Given the description of an element on the screen output the (x, y) to click on. 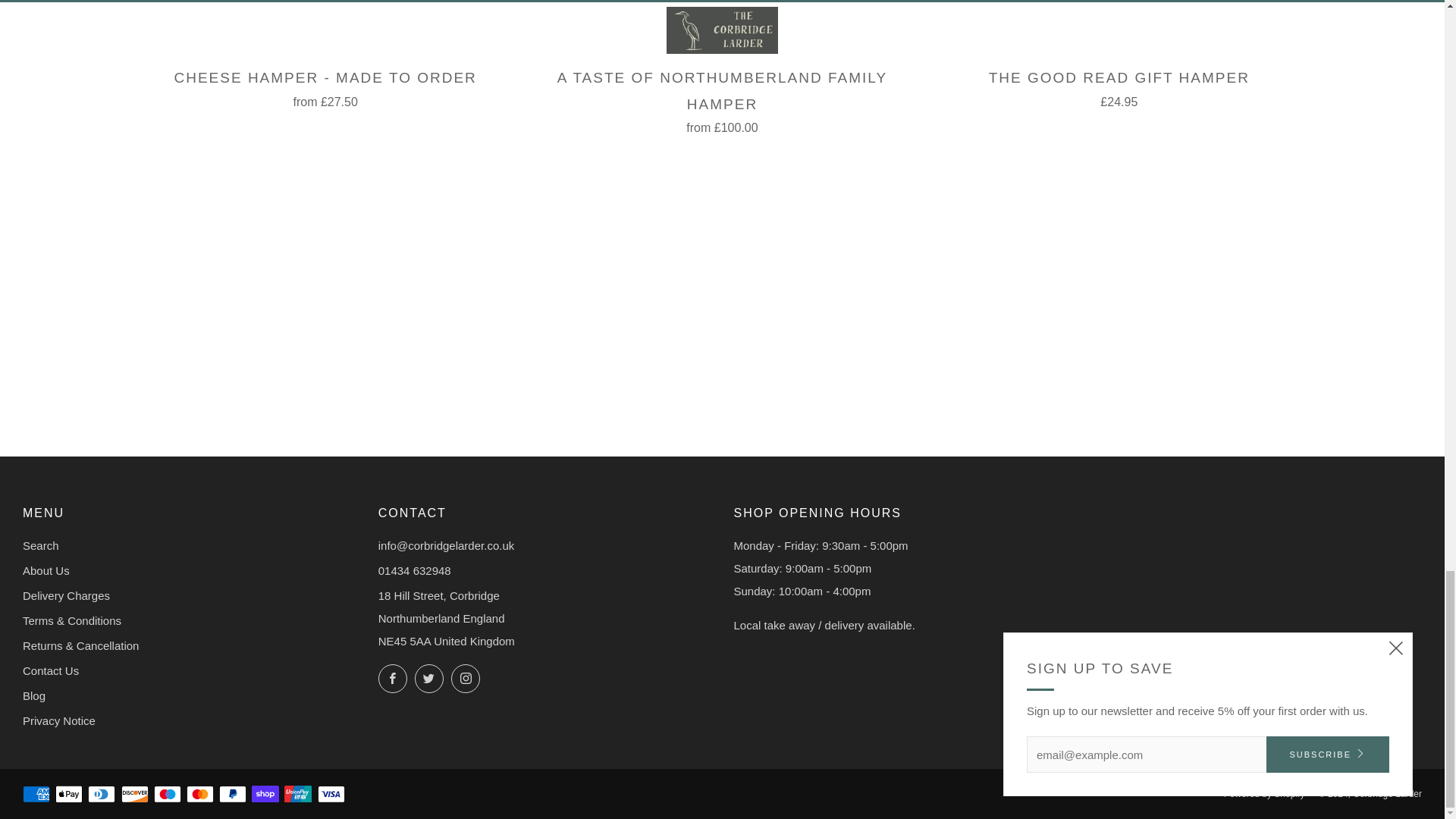
A Taste of Northumberland Family Hamper (721, 99)
Cheese Hamper - made to order (325, 86)
The Good Read Gift Hamper (1118, 86)
